Given the description of an element on the screen output the (x, y) to click on. 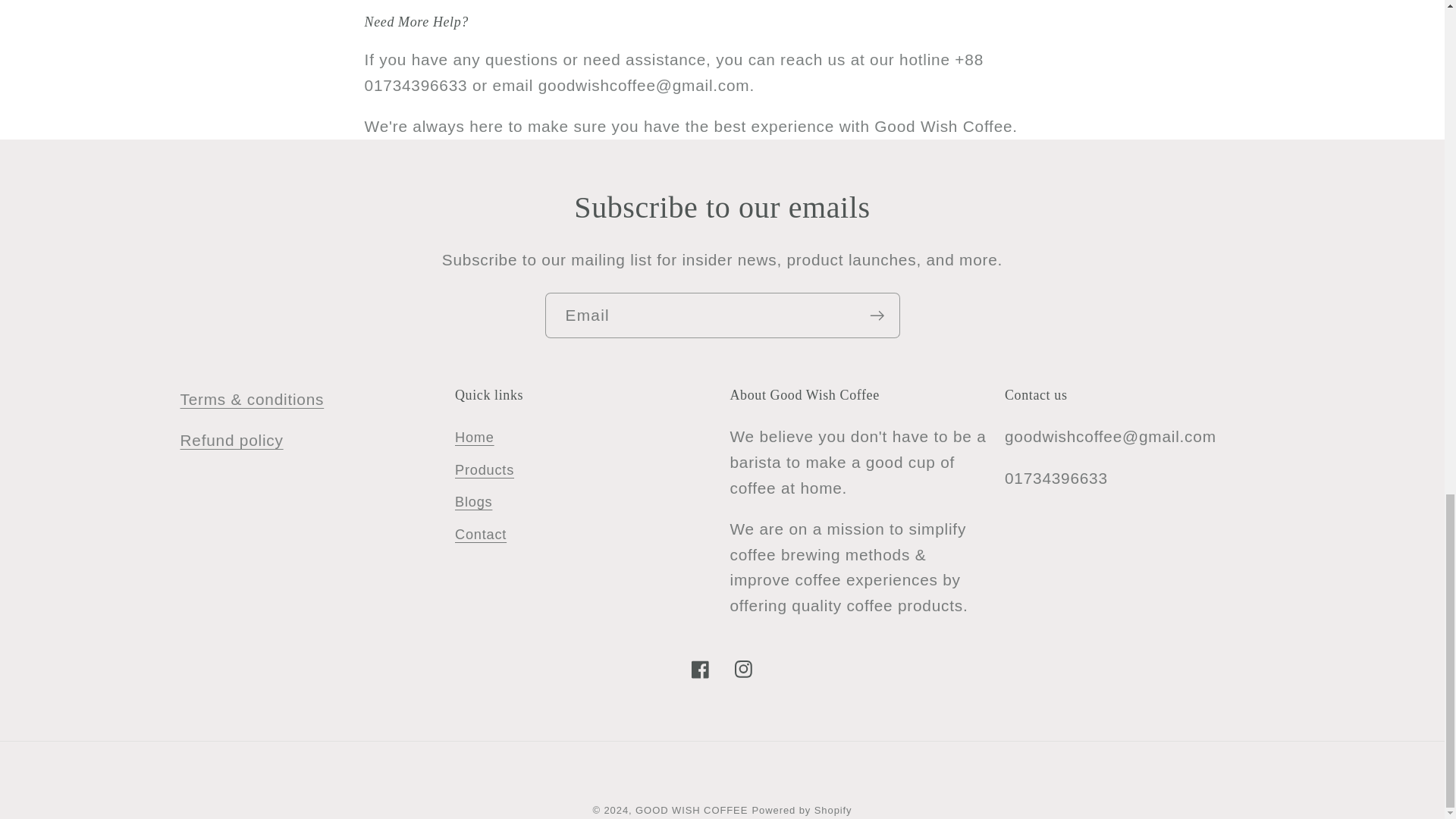
Blogs (473, 502)
Refund policy (231, 439)
Refund Policy (231, 439)
Contact (480, 534)
Home (474, 440)
Products (483, 470)
Facebook (700, 669)
GOOD WISH COFFEE (691, 809)
Instagram (743, 669)
